Given the description of an element on the screen output the (x, y) to click on. 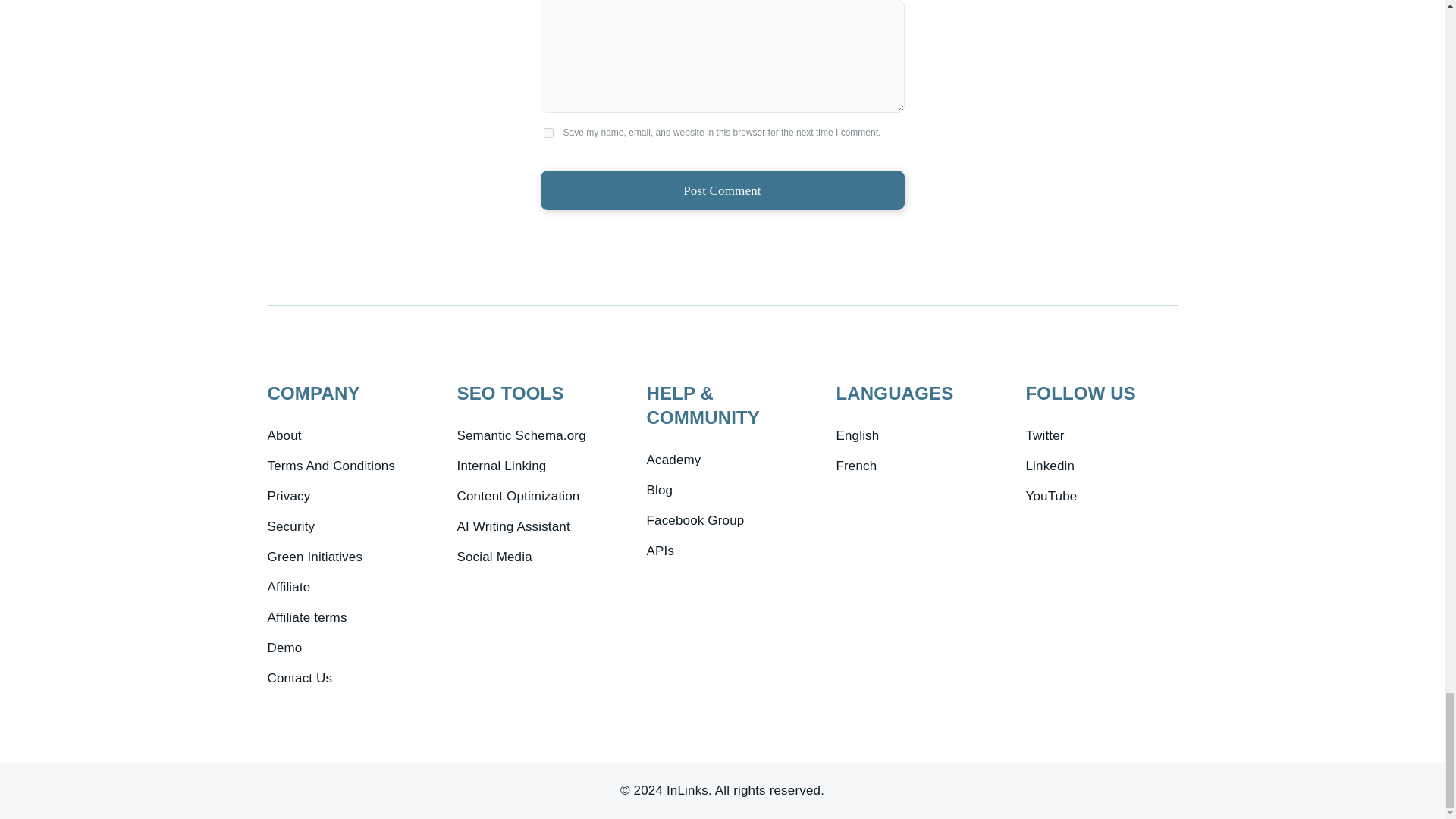
Post Comment (722, 189)
yes (548, 132)
